Given the description of an element on the screen output the (x, y) to click on. 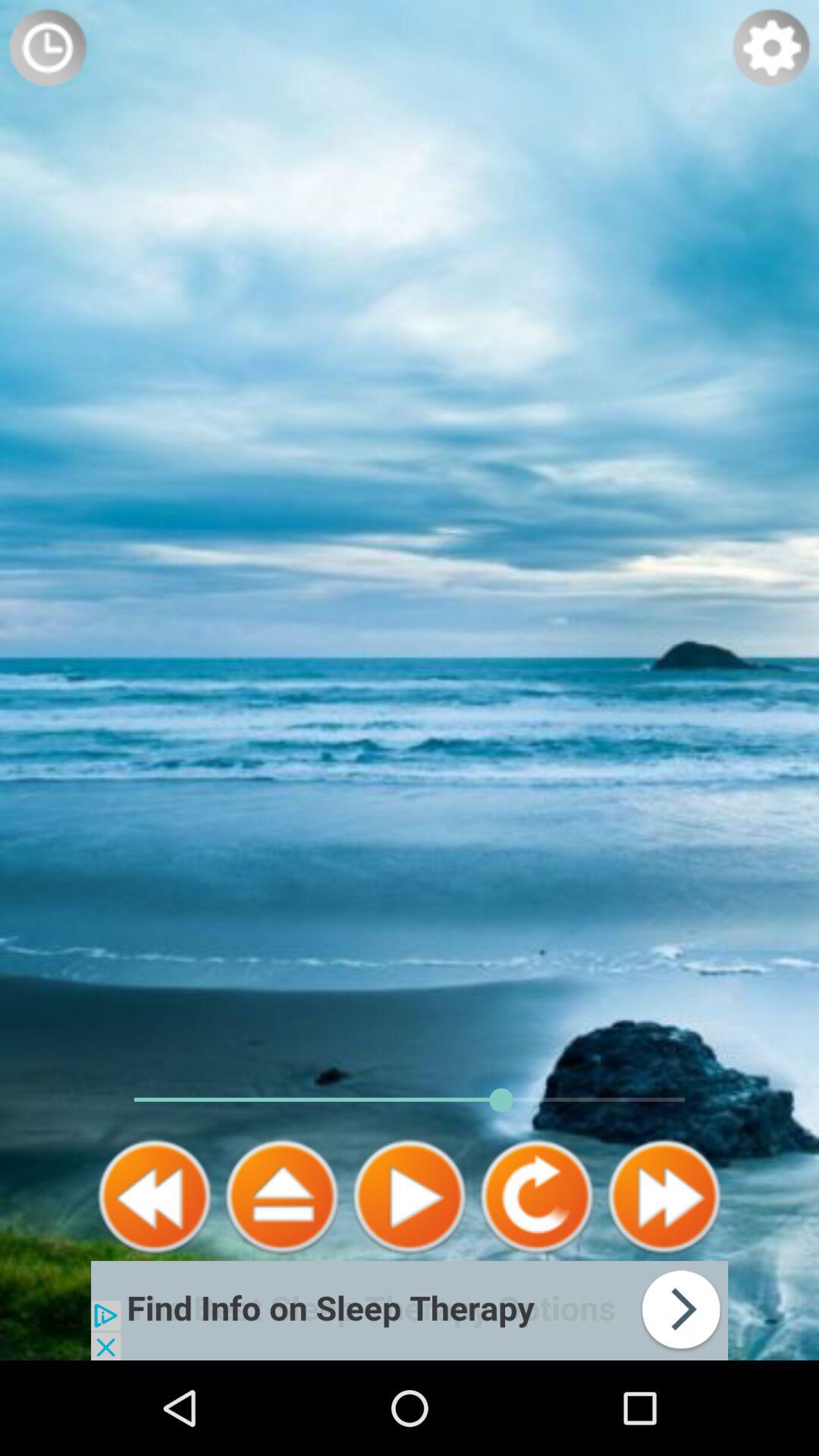
skip forward 15 seconds (536, 1196)
